Given the description of an element on the screen output the (x, y) to click on. 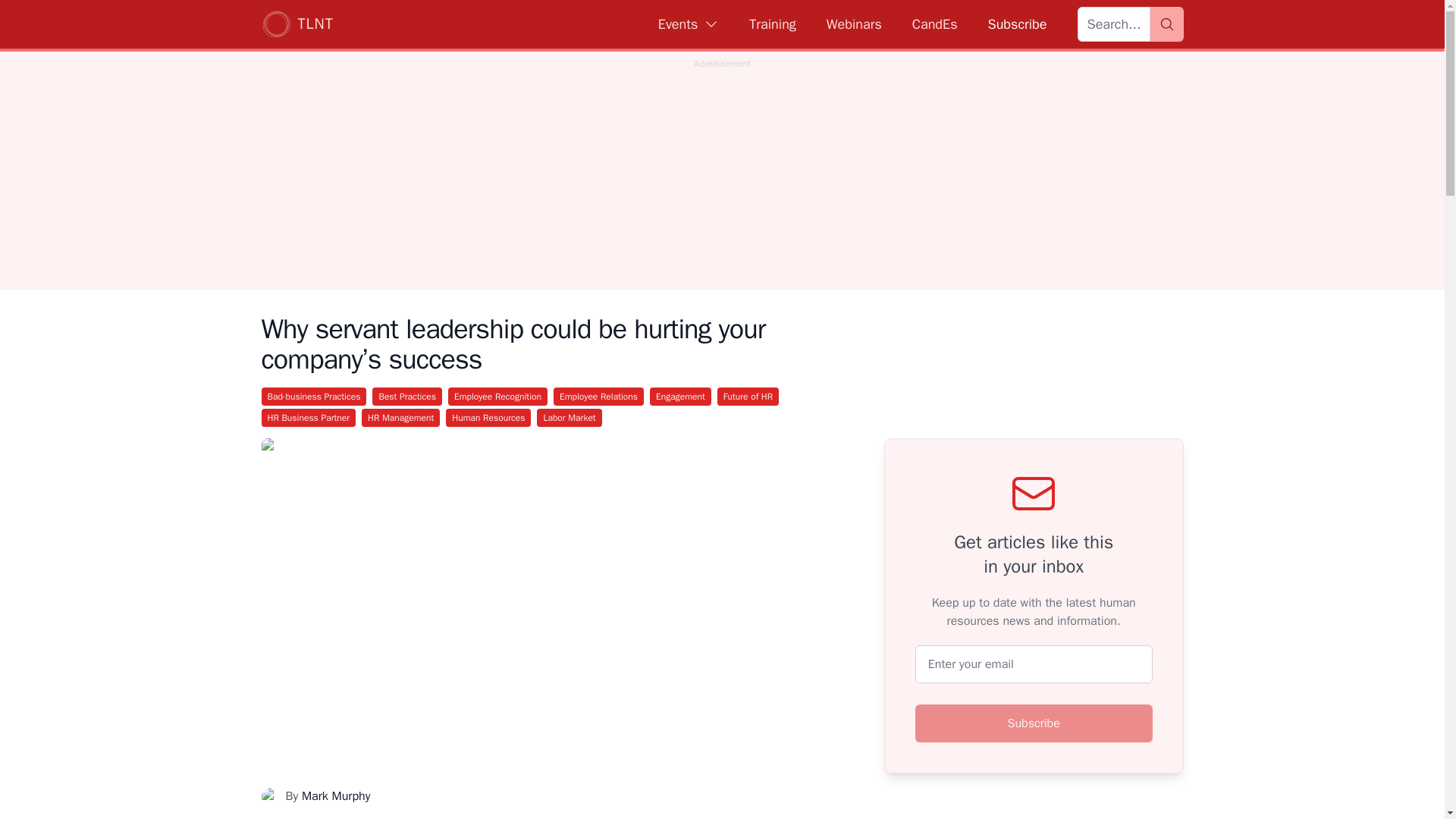
Events (688, 24)
Employee Relations (598, 396)
Training (771, 24)
CandEs (935, 24)
Best Practices (407, 396)
Future of HR (747, 396)
Subscribe (1016, 24)
Engagement (680, 396)
Subscribe (1034, 723)
Employee Recognition (497, 396)
HR Management (400, 417)
Human Resources (488, 417)
Bad-business Practices (313, 396)
Mark Murphy (335, 795)
Webinars (854, 24)
